Given the description of an element on the screen output the (x, y) to click on. 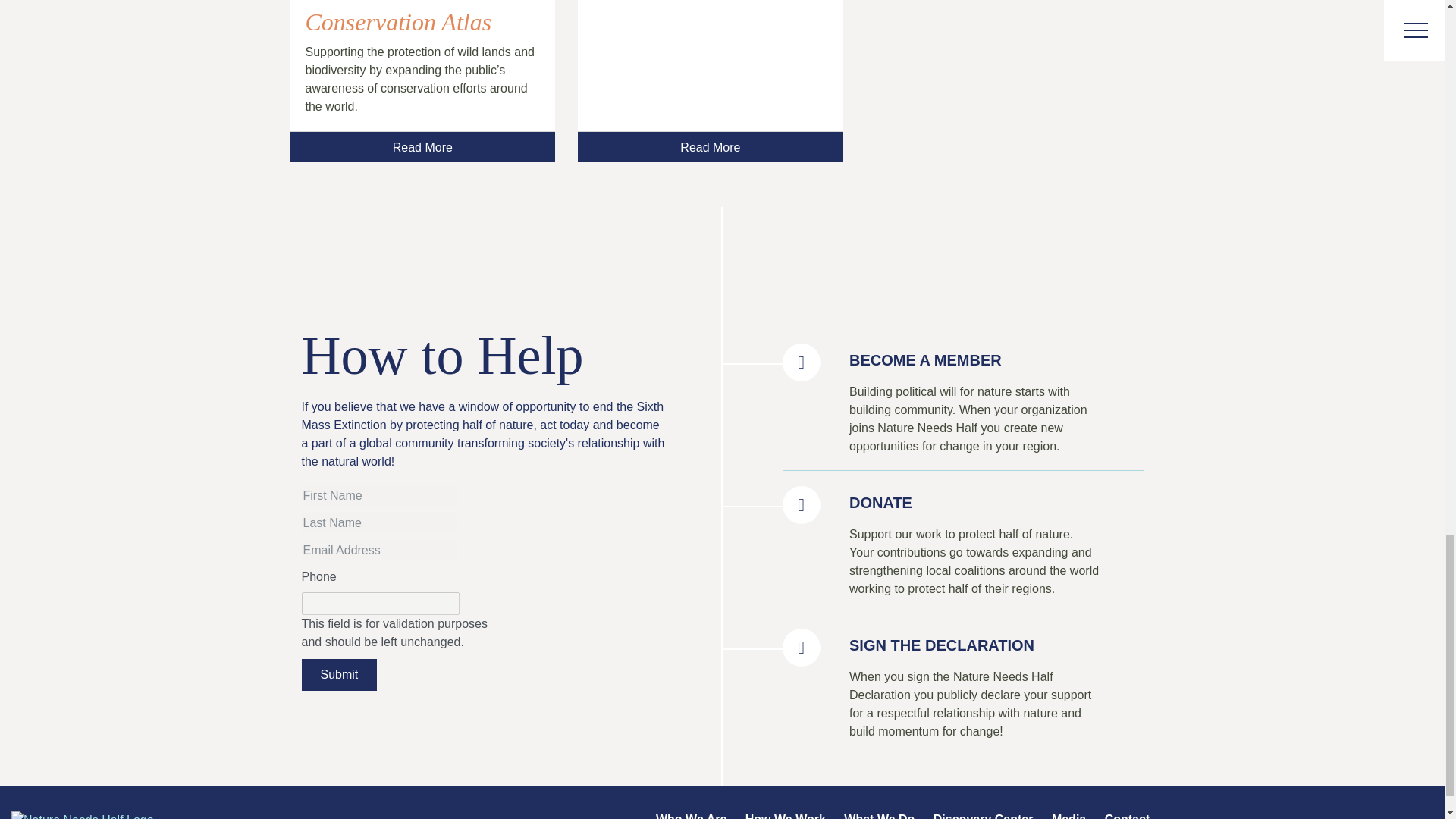
Submit (339, 675)
Read More (710, 146)
Read More (421, 146)
Submit (339, 675)
